Given the description of an element on the screen output the (x, y) to click on. 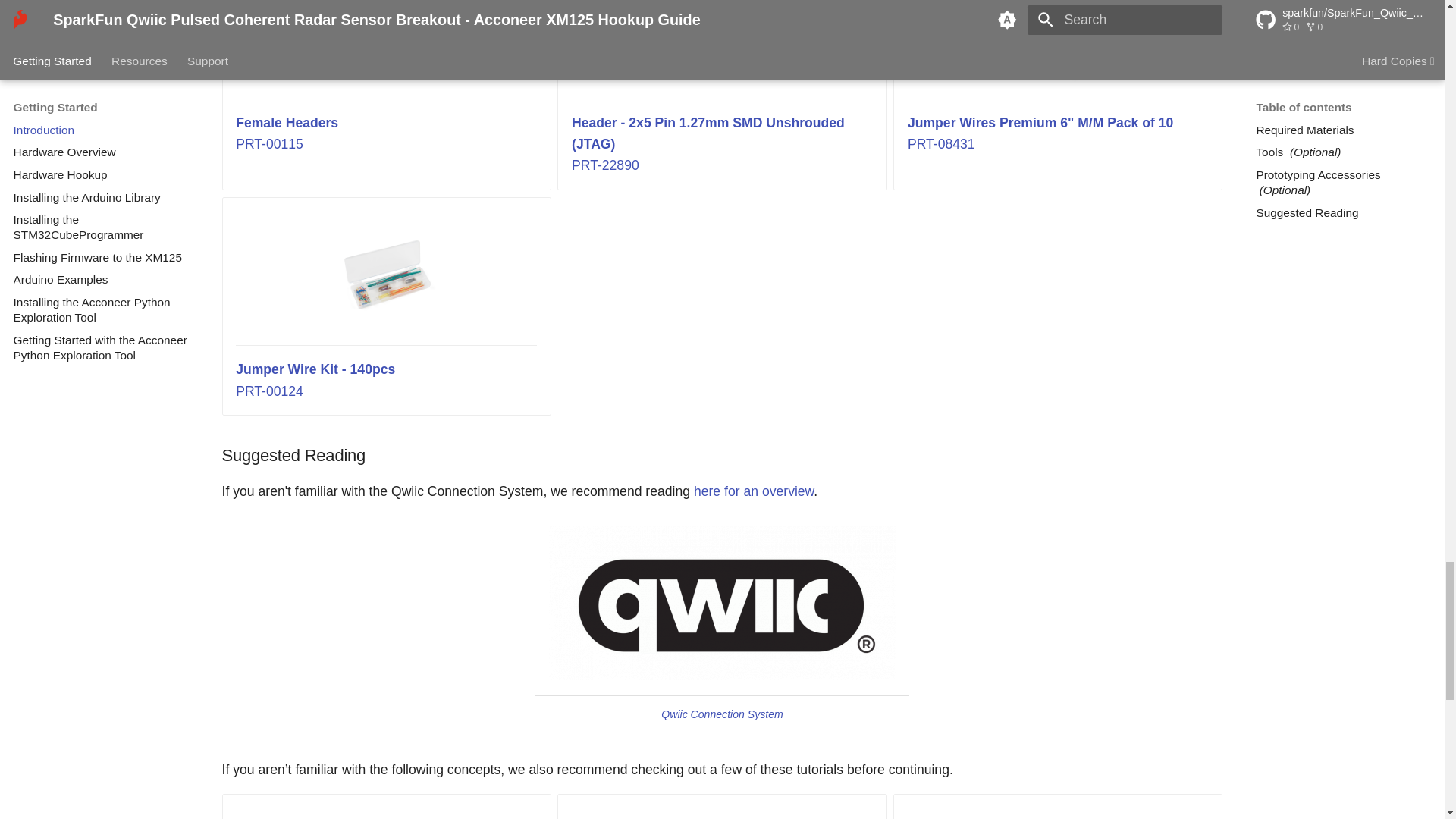
Click to learn more about the Qwiic Connection System! (721, 603)
